Given the description of an element on the screen output the (x, y) to click on. 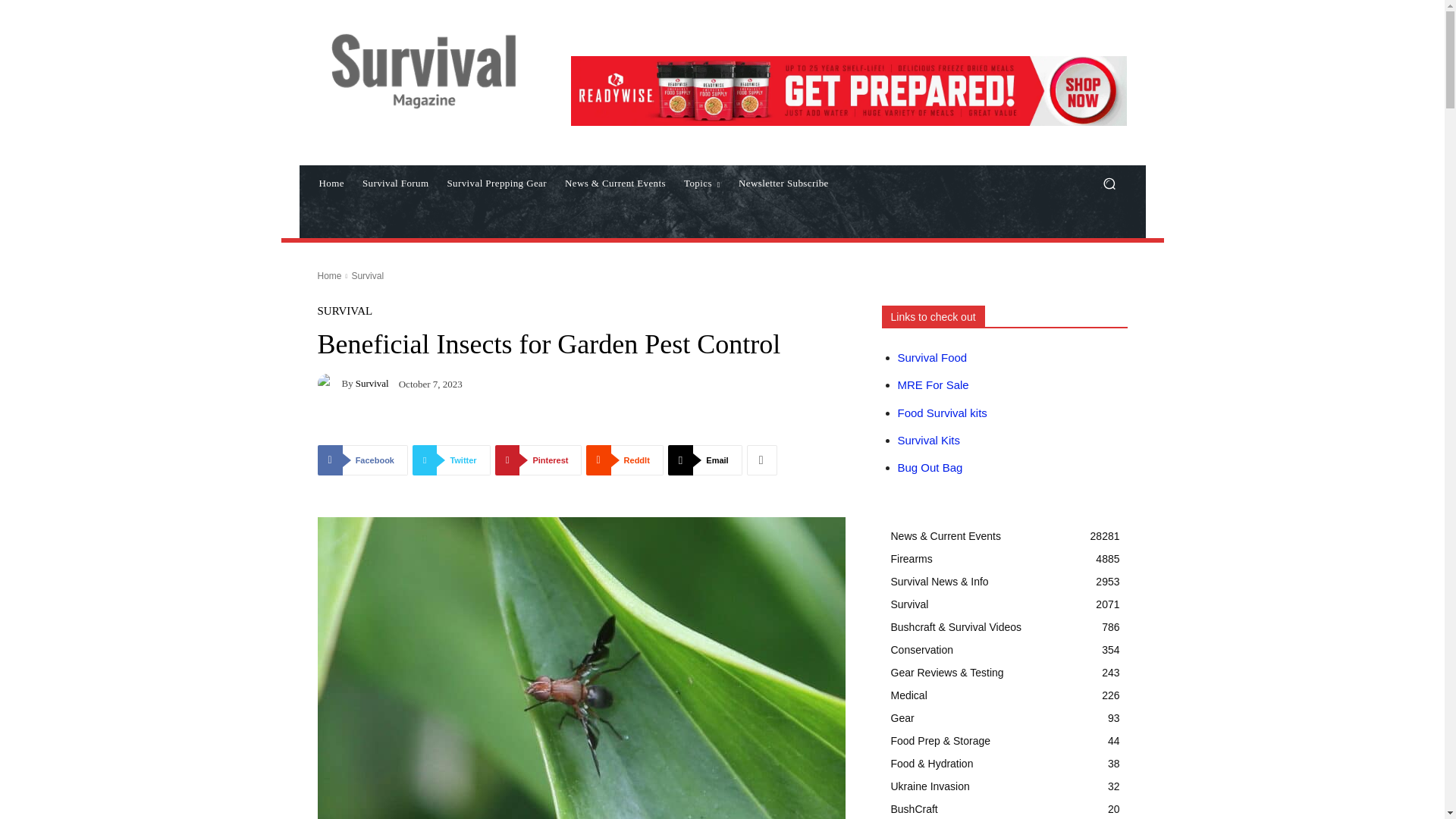
Twitter (451, 460)
View all posts in Survival (367, 276)
ReddIt (624, 460)
Email (705, 460)
survival (328, 383)
Pinterest (538, 460)
Survival Forum  (395, 183)
Facebook (362, 460)
